Given the description of an element on the screen output the (x, y) to click on. 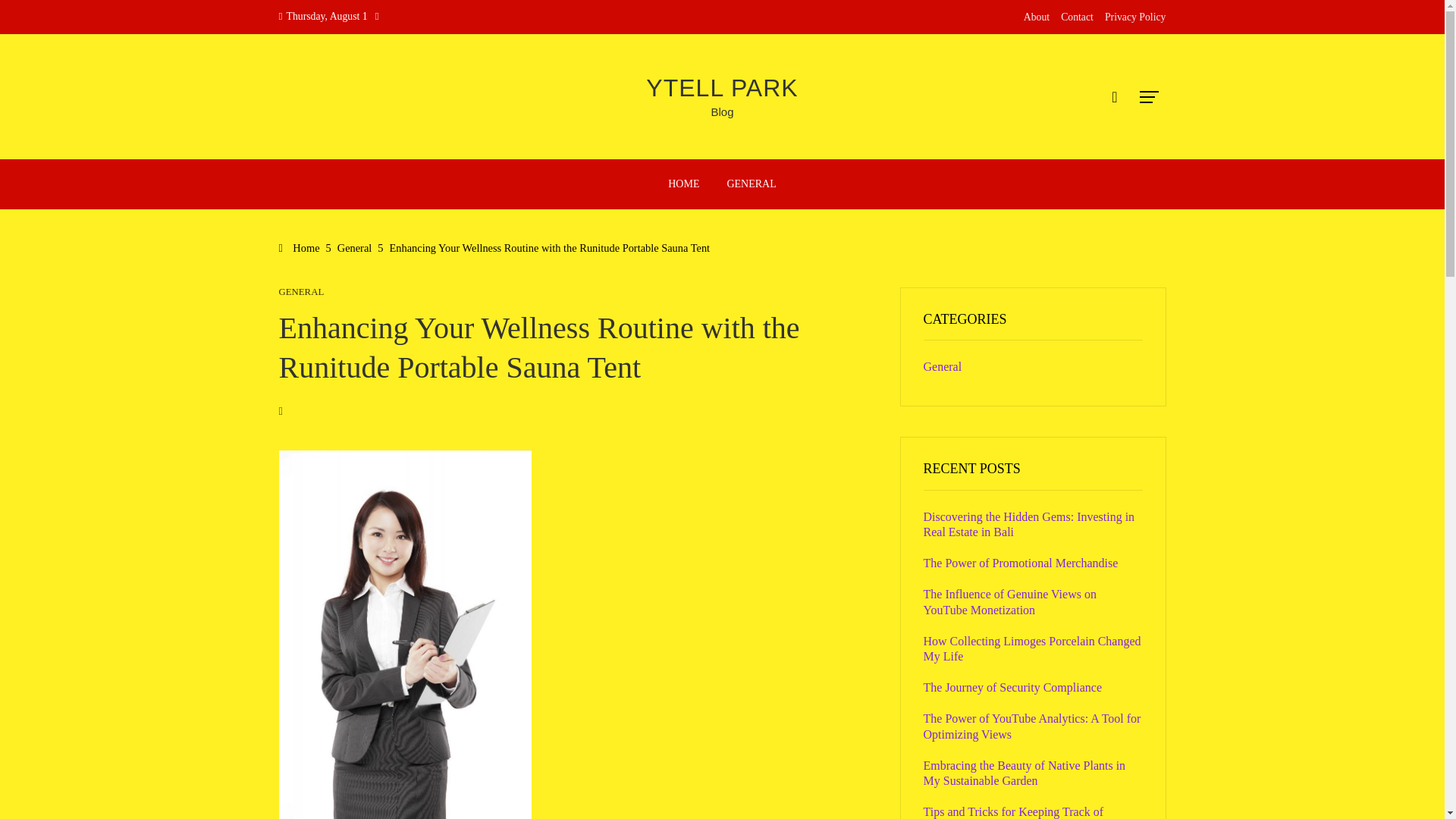
How Collecting Limoges Porcelain Changed My Life (1032, 648)
Contact (1077, 17)
The Journey of Security Compliance (1012, 686)
General (354, 247)
The Influence of Genuine Views on YouTube Monetization (1009, 602)
Home (299, 247)
GENERAL (301, 292)
The Power of YouTube Analytics: A Tool for Optimizing Views (1032, 726)
HOME (683, 183)
GENERAL (750, 183)
YTELL PARK (721, 87)
General (942, 366)
Blog (721, 111)
